Given the description of an element on the screen output the (x, y) to click on. 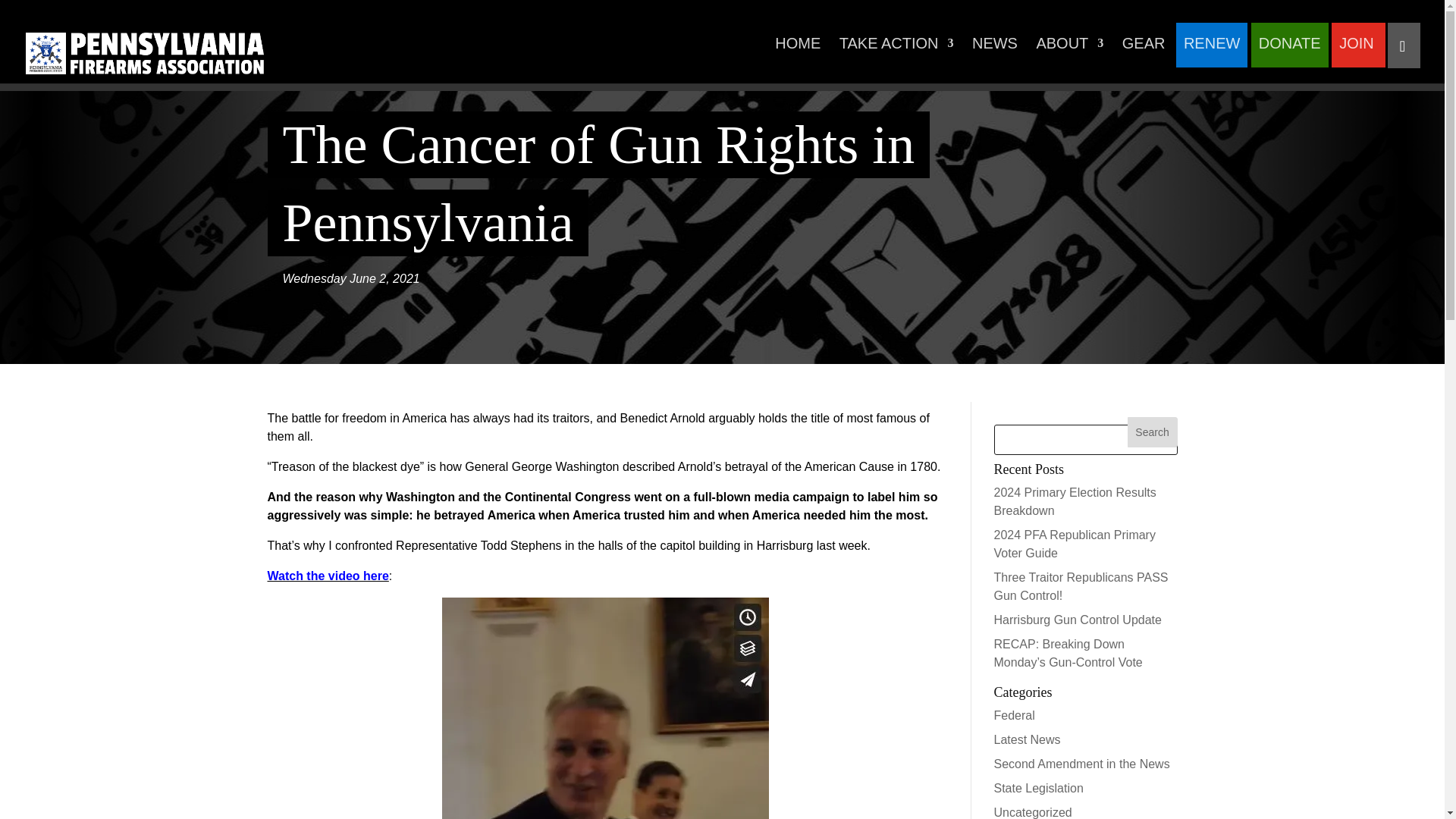
Search (1151, 431)
TAKE ACTION (896, 52)
HOME (797, 52)
DONATE (1289, 52)
Watch the video here (327, 575)
GEAR (1144, 52)
NEWS (994, 52)
JOIN (1356, 52)
ABOUT (1069, 52)
RENEW (1211, 52)
